Given the description of an element on the screen output the (x, y) to click on. 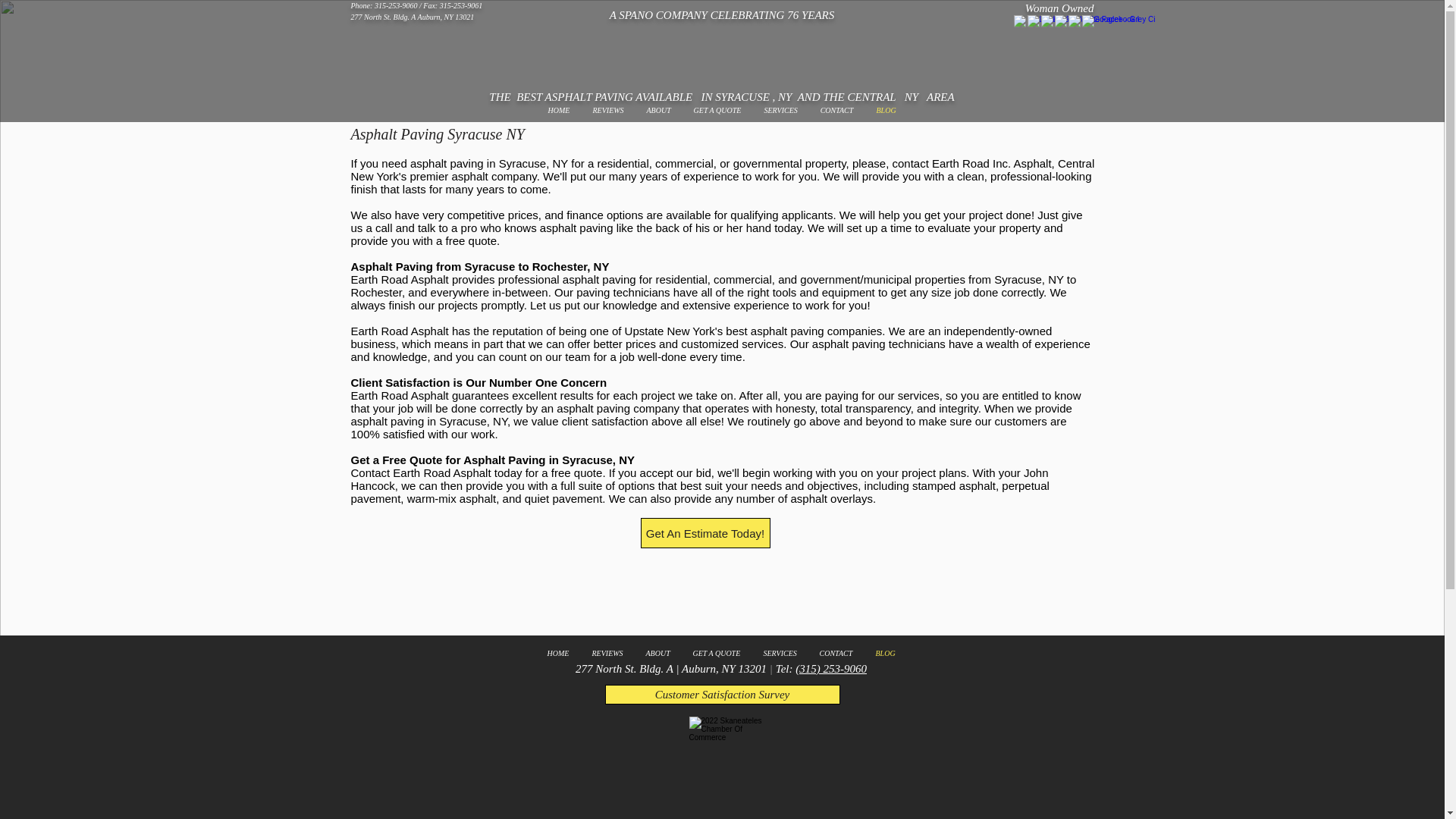
GET A QUOTE (717, 110)
ABOUT (658, 110)
Phone: 315-253-9060 (383, 5)
REVIEWS (607, 110)
SERVICES (780, 110)
HOME (558, 110)
BLOG (885, 110)
CONTACT (836, 110)
